Given the description of an element on the screen output the (x, y) to click on. 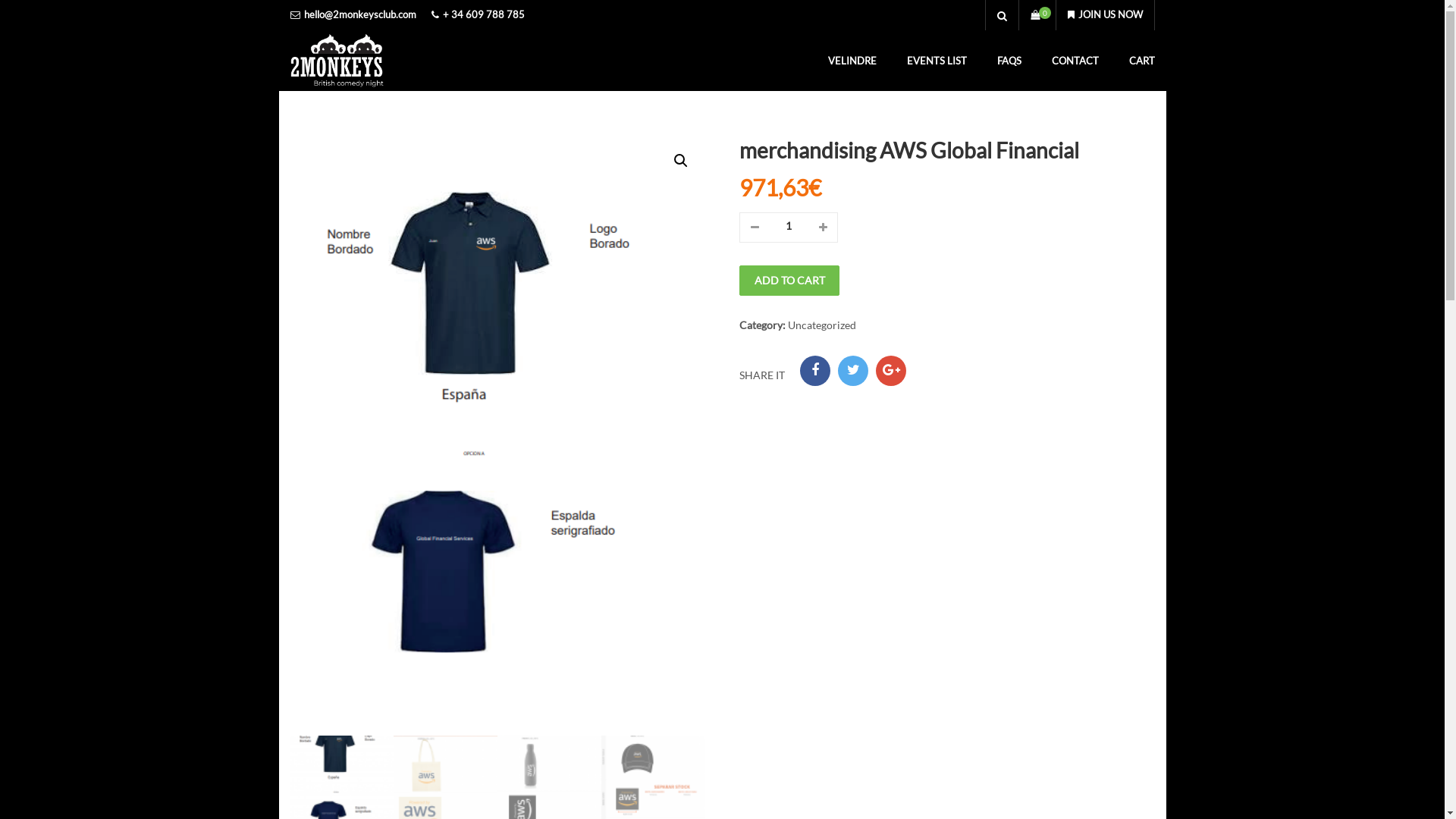
Twitter Element type: hover (852, 370)
EVENTS LIST Element type: text (936, 60)
JOIN US NOW Element type: text (1104, 14)
globalf Element type: hover (496, 435)
ADD TO CART Element type: text (788, 280)
Qty Element type: hover (788, 226)
Uncategorized Element type: text (821, 324)
Facebook Element type: hover (815, 370)
VELINDRE Element type: text (852, 60)
CONTACT Element type: text (1074, 60)
hello@2monkeysclub.com Element type: text (359, 14)
Google + Element type: hover (890, 370)
FAQS Element type: text (1008, 60)
0 Element type: text (1036, 19)
CART Element type: text (1141, 60)
